Given the description of an element on the screen output the (x, y) to click on. 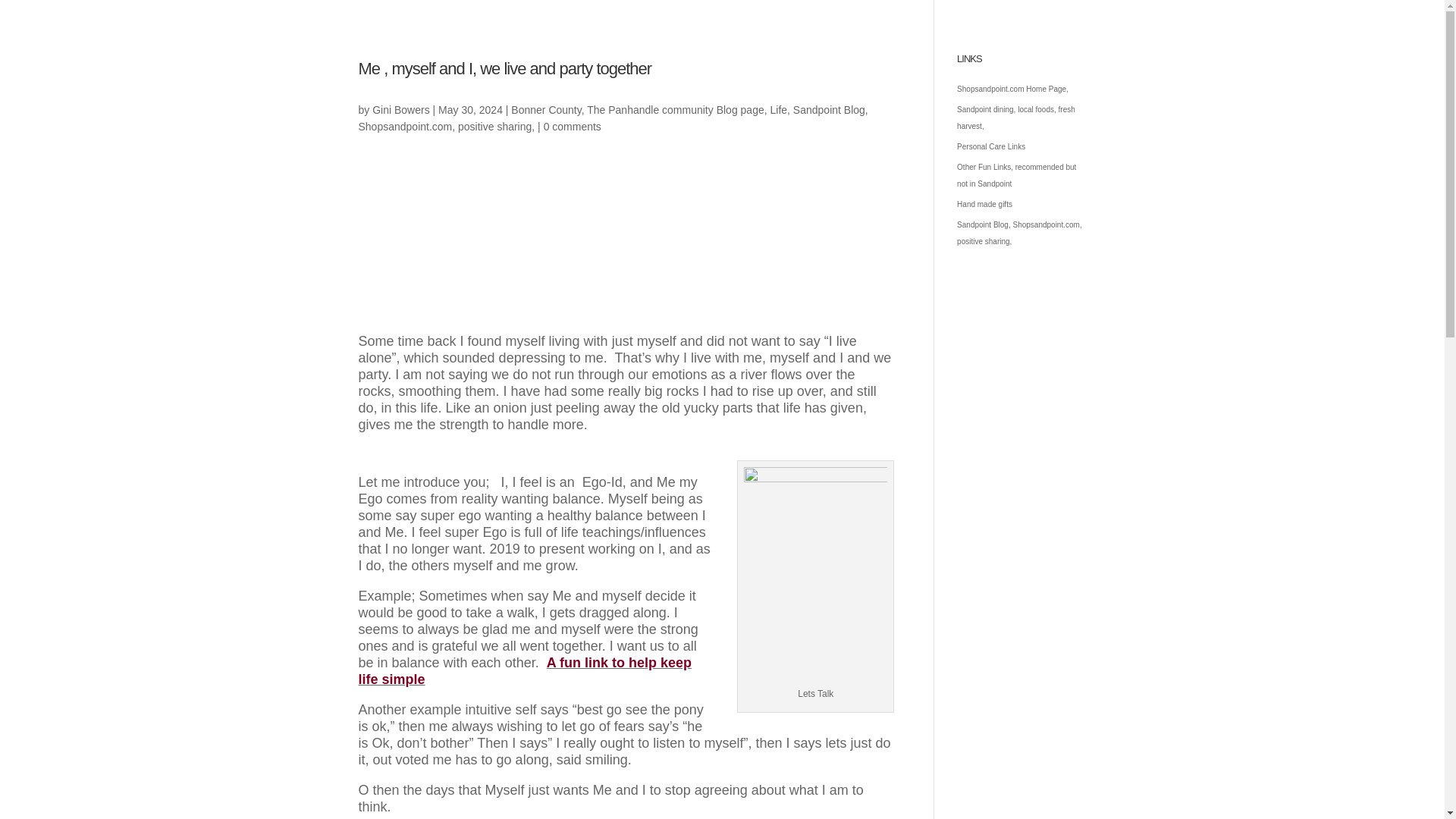
Life (778, 110)
Hand made gifts (983, 203)
Other Fun Links, recommended but not in Sandpoint (1015, 175)
Personal Care Links (990, 146)
A fun link to help keep life simple (524, 671)
0 comments (572, 126)
Sandpoint Blog, Shopsandpoint.com, positive sharing, (1018, 232)
Shopsandpoint.com Home Page, (1012, 89)
Gini Bowers (400, 110)
Sandpoint dining, local foods, fresh harvest, (1015, 117)
Bonner County, The Panhandle community Blog page (636, 110)
Sandpoint Blog, Shopsandpoint.com, positive sharing, (612, 118)
Posts by Gini Bowers (400, 110)
